Given the description of an element on the screen output the (x, y) to click on. 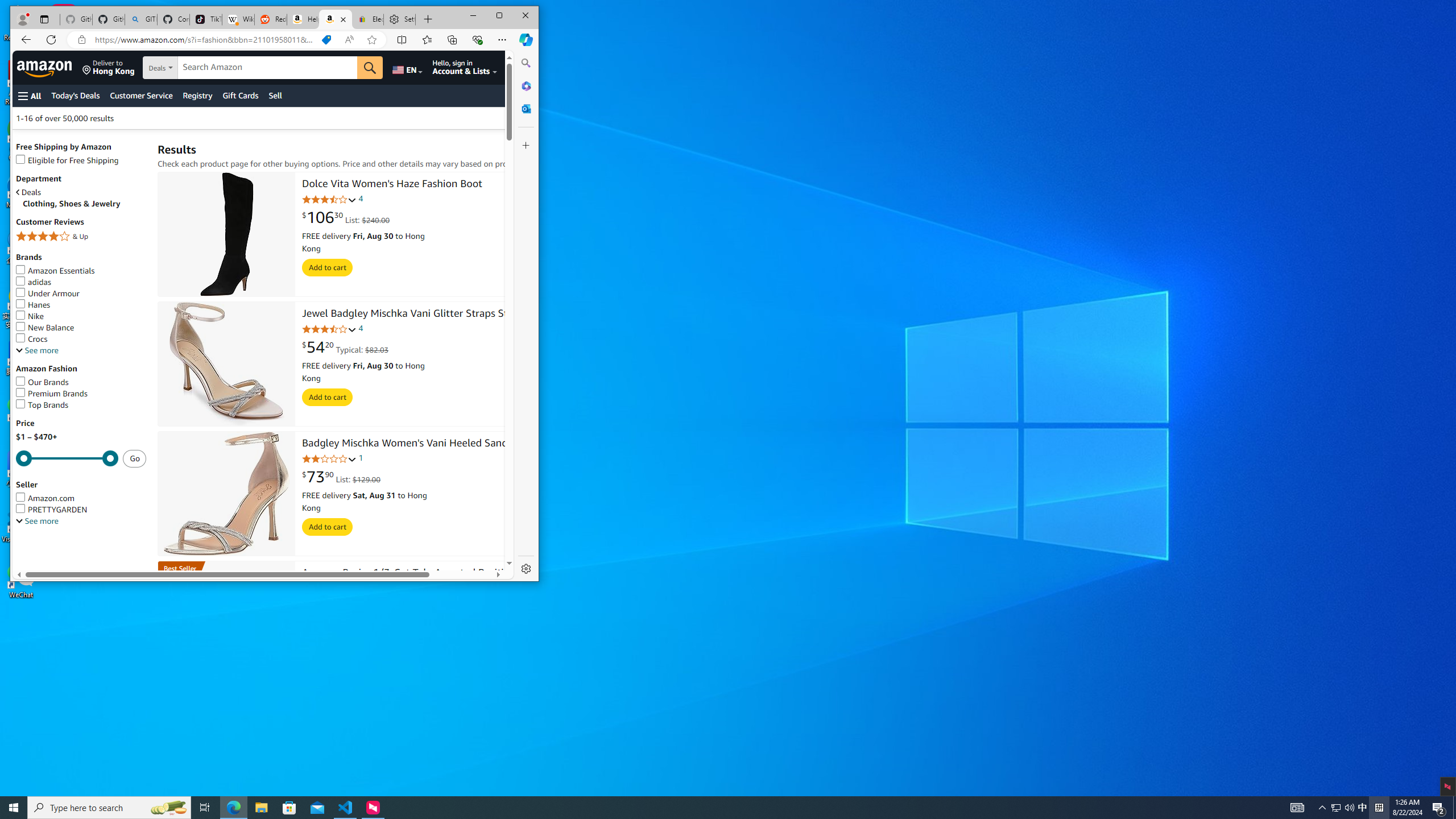
Amazon.com (45, 497)
New Balance (80, 327)
Jewel Badgley Mischka Vani Glitter Straps Stiletto Heels (430, 314)
Eligible for Free Shipping (67, 160)
Go (369, 67)
User Promoted Notification Area (1342, 807)
Top Brands (42, 404)
1 (361, 457)
Crocs (32, 338)
